Given the description of an element on the screen output the (x, y) to click on. 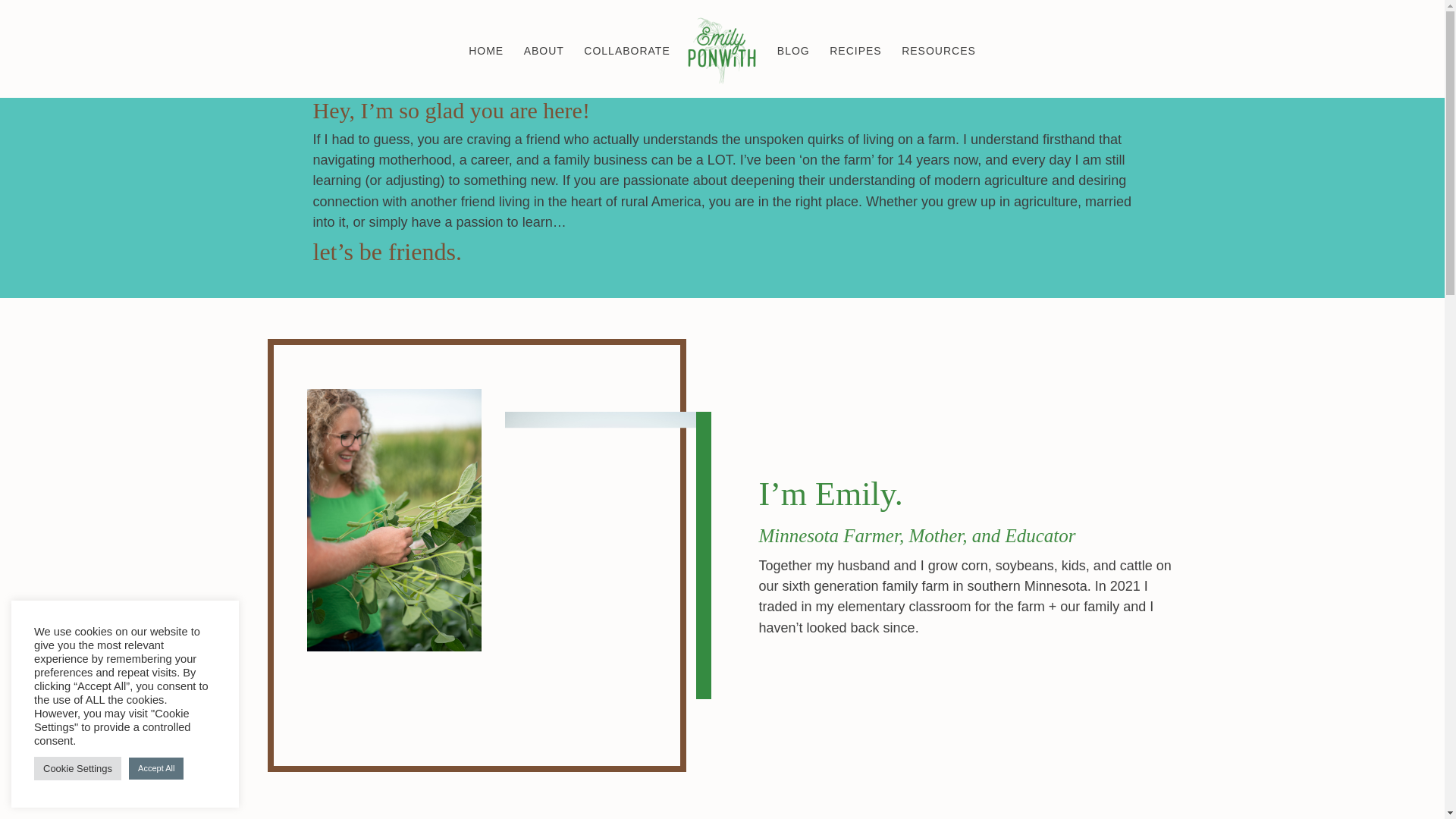
RECIPES (854, 71)
COLLABORATE (626, 71)
Accept All (156, 768)
RESOURCES (938, 71)
Cookie Settings (76, 768)
